Given the description of an element on the screen output the (x, y) to click on. 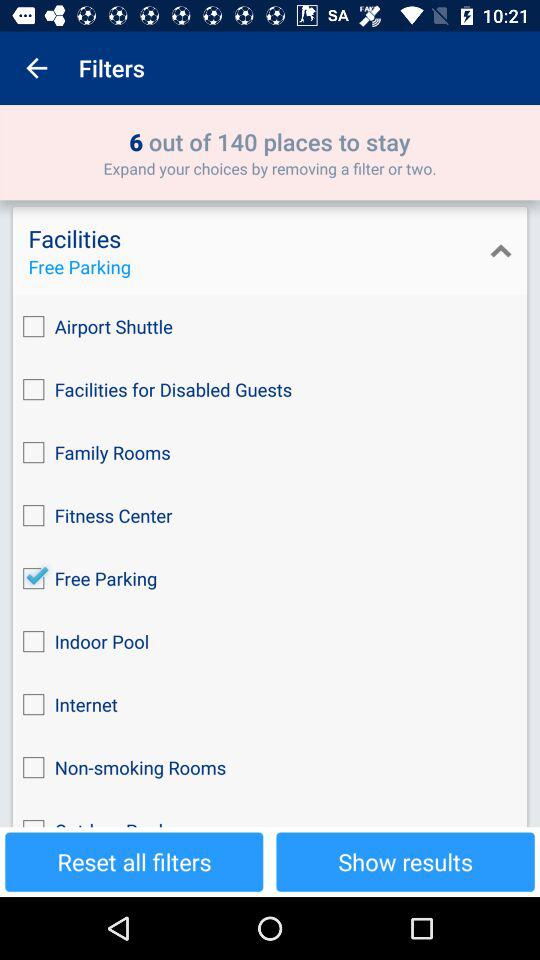
choose the indoor pool icon (269, 641)
